Given the description of an element on the screen output the (x, y) to click on. 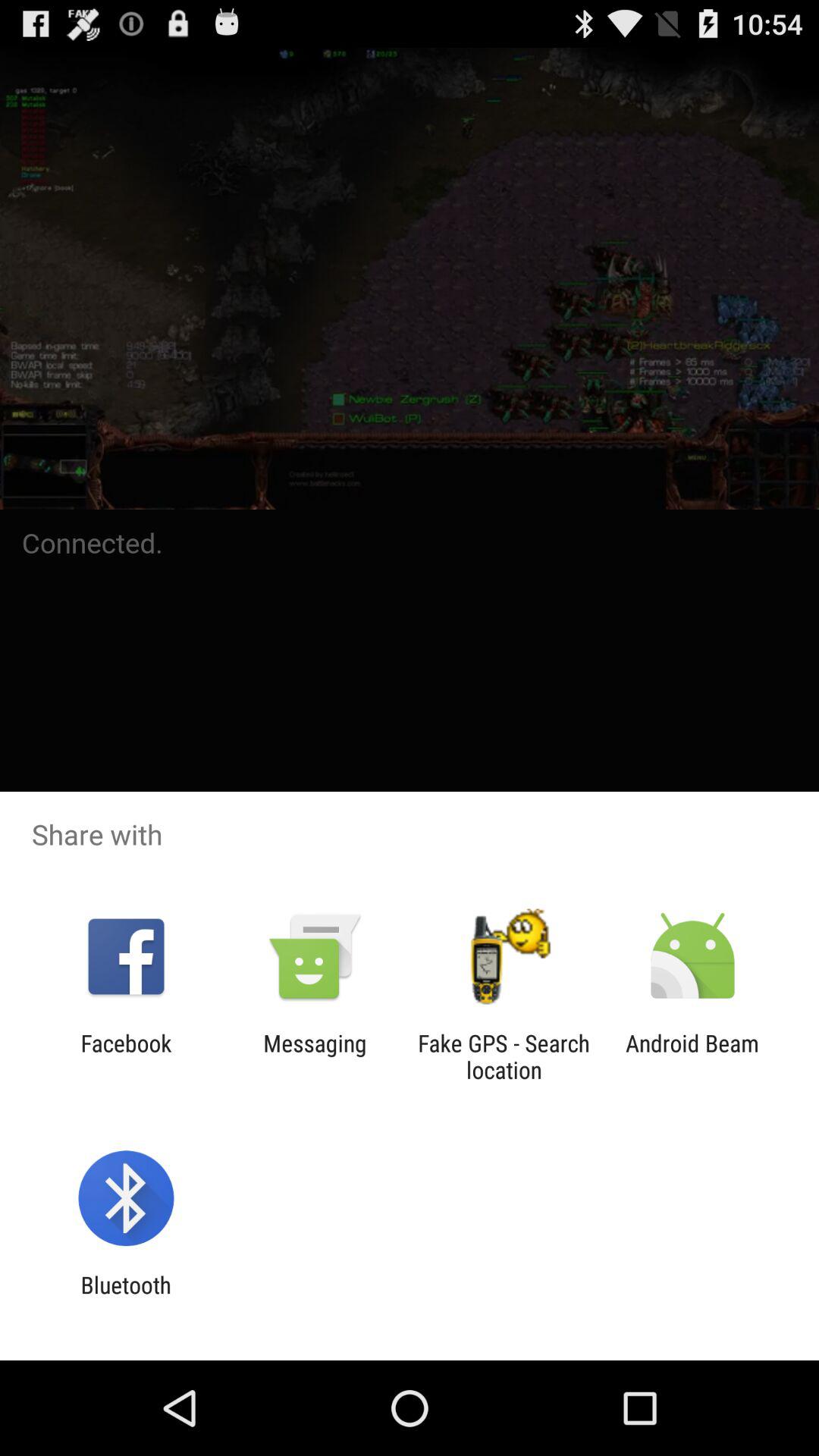
choose app next to the android beam icon (503, 1056)
